Given the description of an element on the screen output the (x, y) to click on. 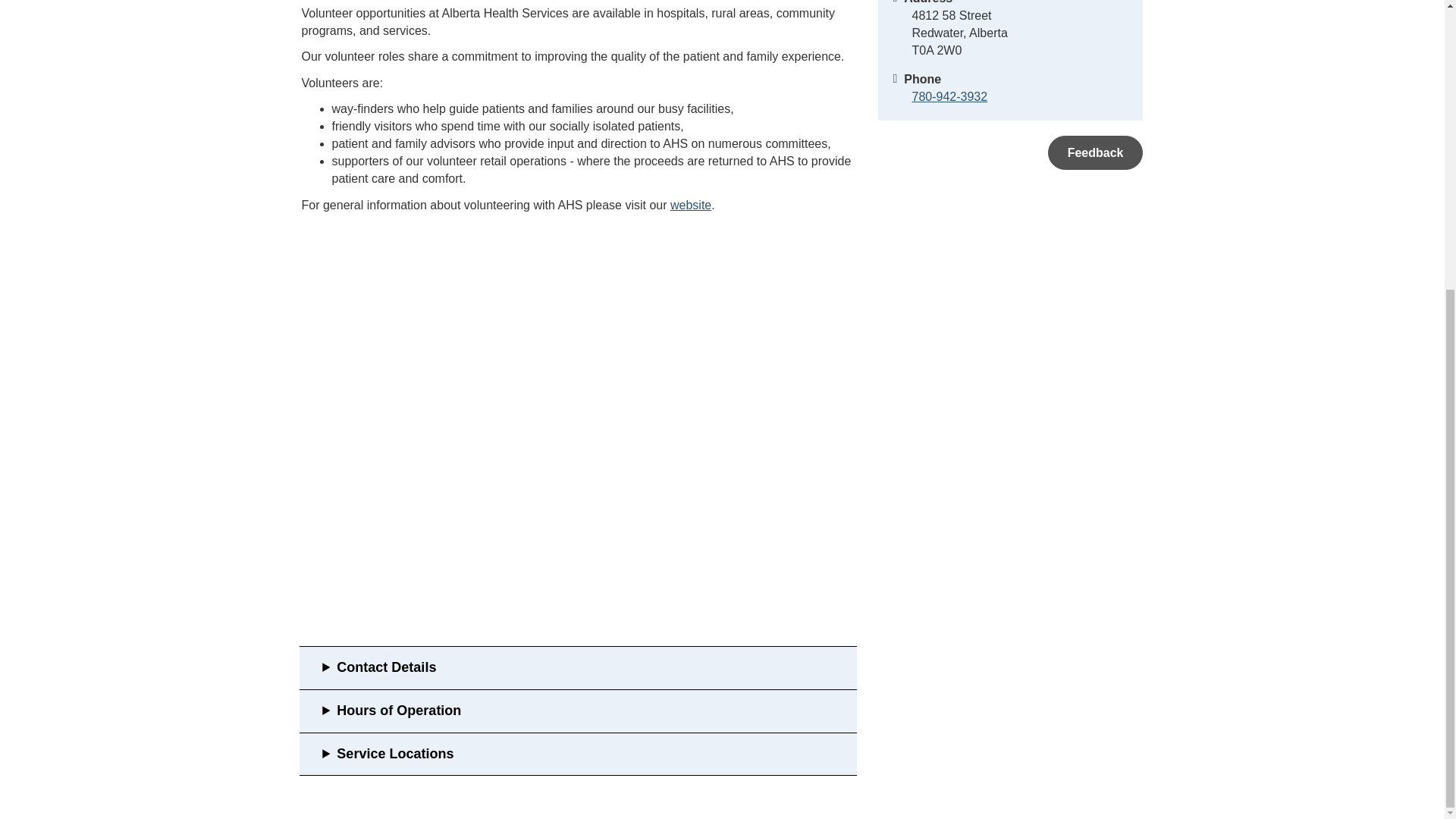
website (690, 205)
